Given the description of an element on the screen output the (x, y) to click on. 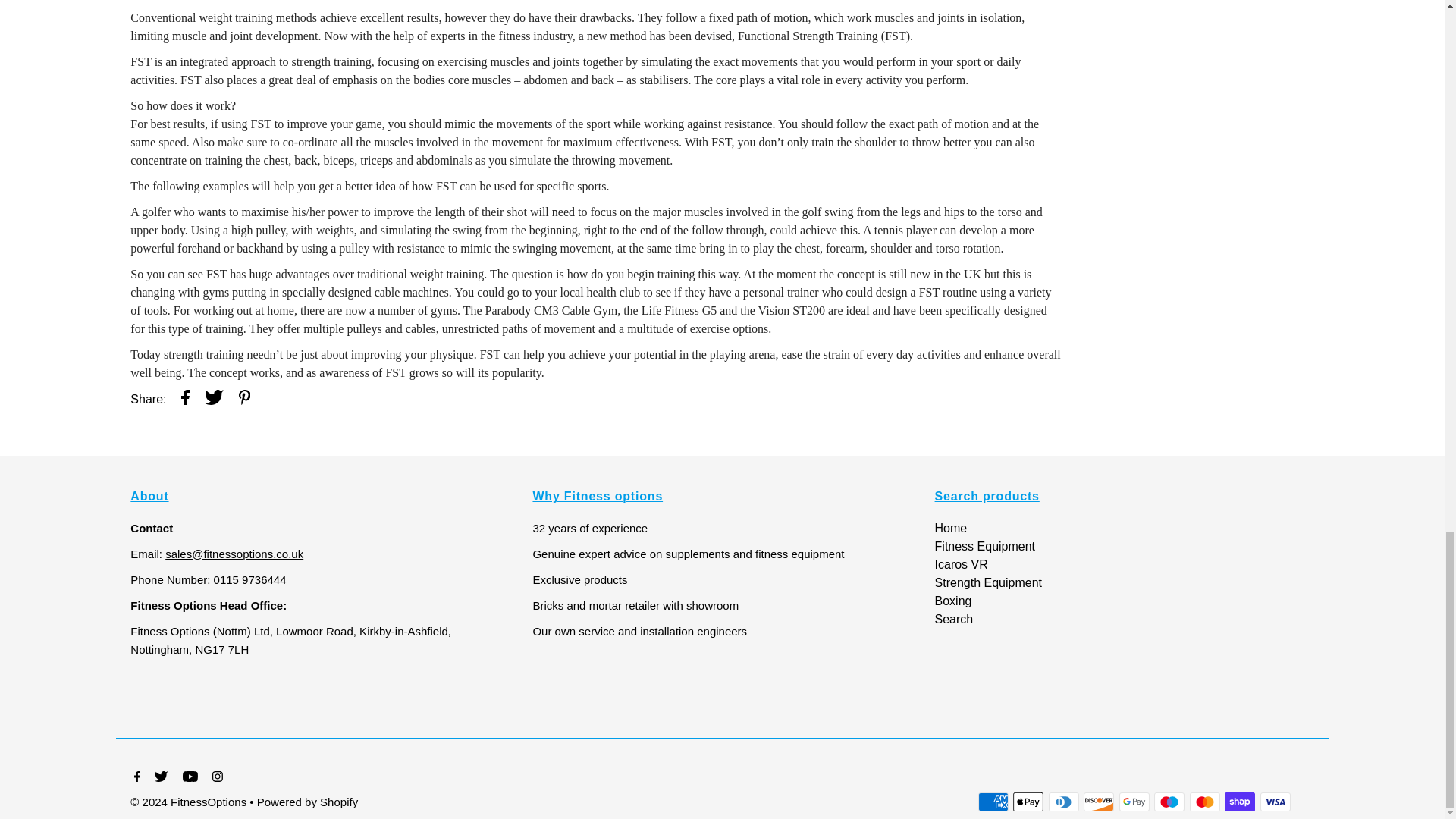
tel:01159736444 (250, 579)
American Express (993, 801)
Share on Twitter (214, 399)
